Given the description of an element on the screen output the (x, y) to click on. 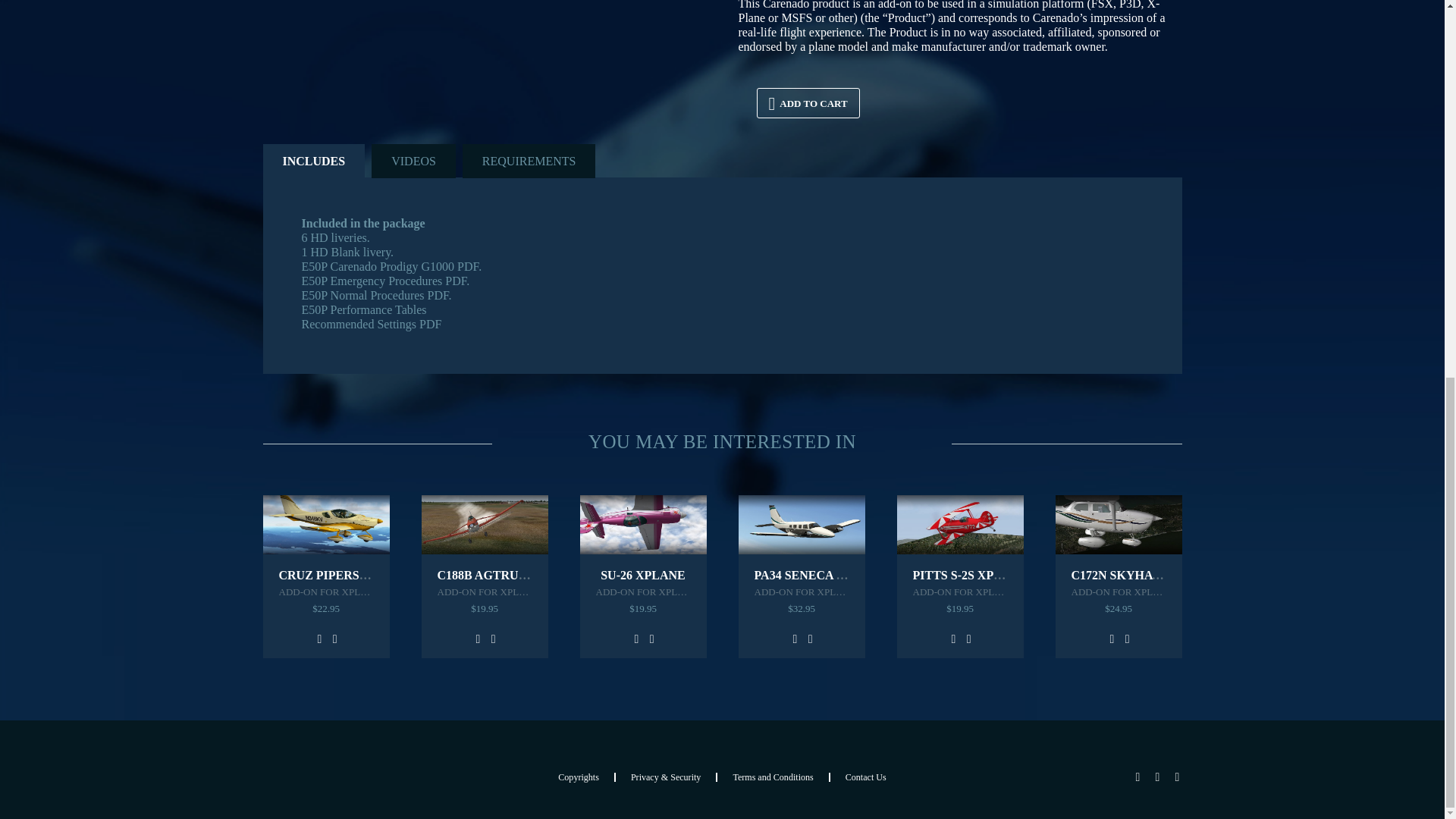
Twitter (1157, 776)
Facebook (1136, 776)
YouTube (1176, 776)
